Given the description of an element on the screen output the (x, y) to click on. 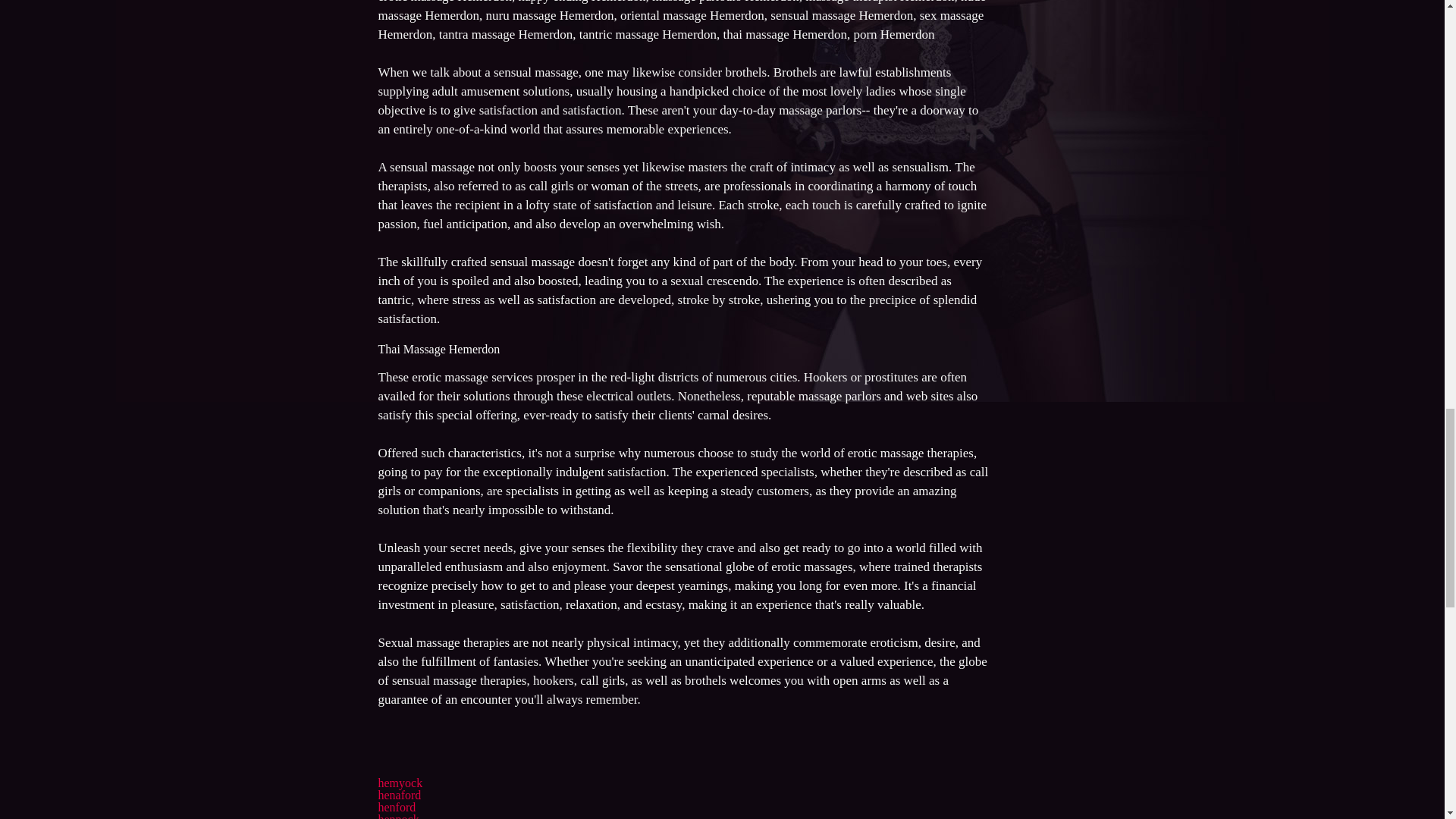
hennock (398, 816)
henford (395, 807)
henaford (398, 794)
hemyock (399, 782)
